Given the description of an element on the screen output the (x, y) to click on. 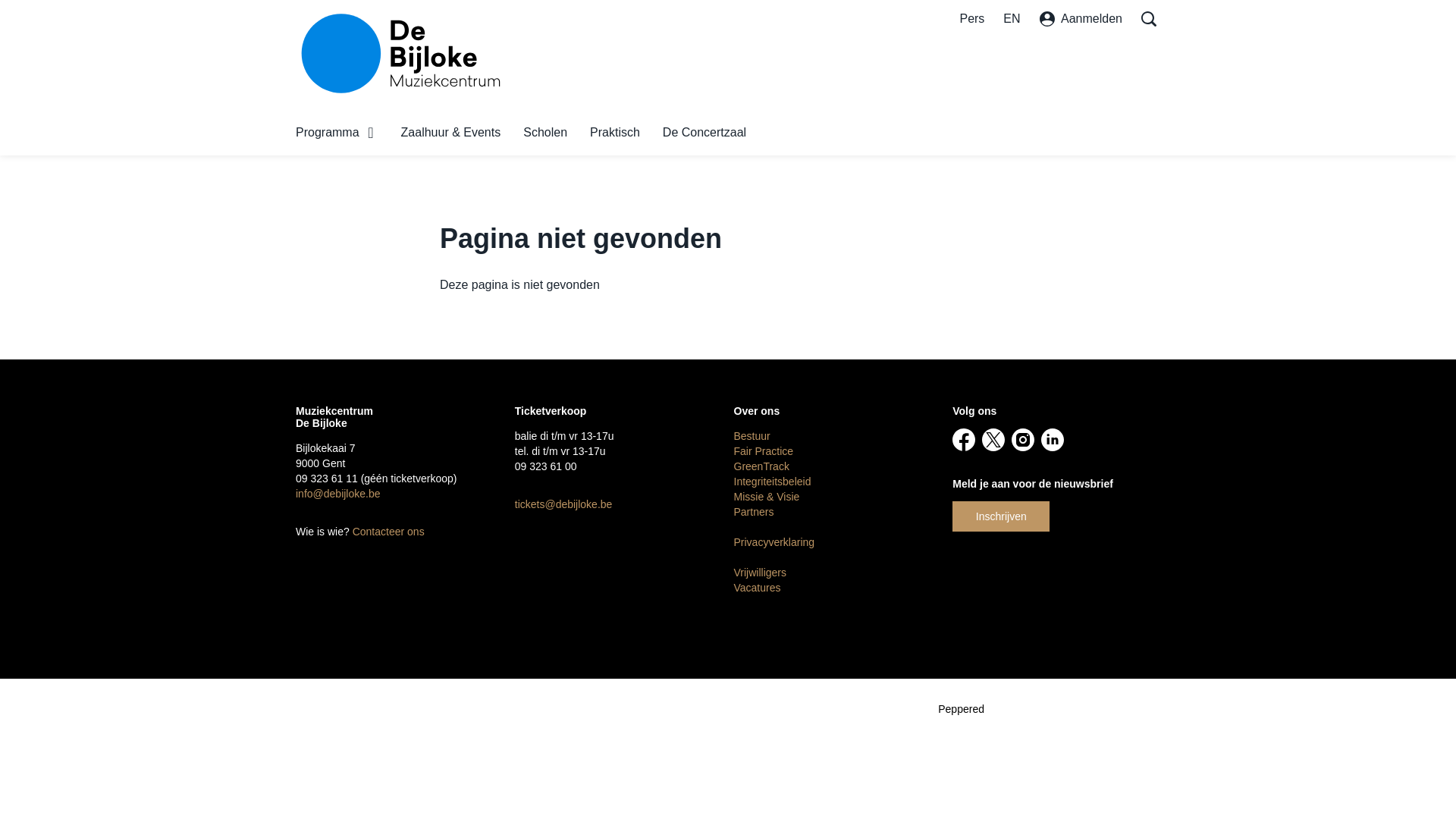
Partners Element type: text (754, 511)
Zaalhuur & Events Element type: text (451, 132)
Inschrijven Element type: text (1000, 516)
Missie & Visie Element type: text (767, 496)
info@debijloke.be Element type: text (337, 493)
Ga naar homepage Element type: hover (401, 52)
Praktisch Element type: text (614, 132)
Programma Element type: text (336, 132)
De Concertzaal Element type: text (704, 132)
Aanmelden Element type: text (1080, 18)
Scholen Element type: text (545, 132)
Vacatures Element type: text (757, 587)
EN Element type: text (1011, 18)
Vrijwilligers Element type: text (760, 572)
Peppered Element type: text (961, 708)
Fair Practice Element type: text (763, 451)
GreenTrack Element type: text (761, 466)
Privacyverklaring Element type: text (774, 542)
tickets@debijloke.be Element type: text (563, 504)
Contacteer ons  Element type: text (389, 531)
Integriteitsbeleid Element type: text (772, 481)
Pers Element type: text (971, 18)
Bestuur Element type: text (752, 435)
